Given the description of an element on the screen output the (x, y) to click on. 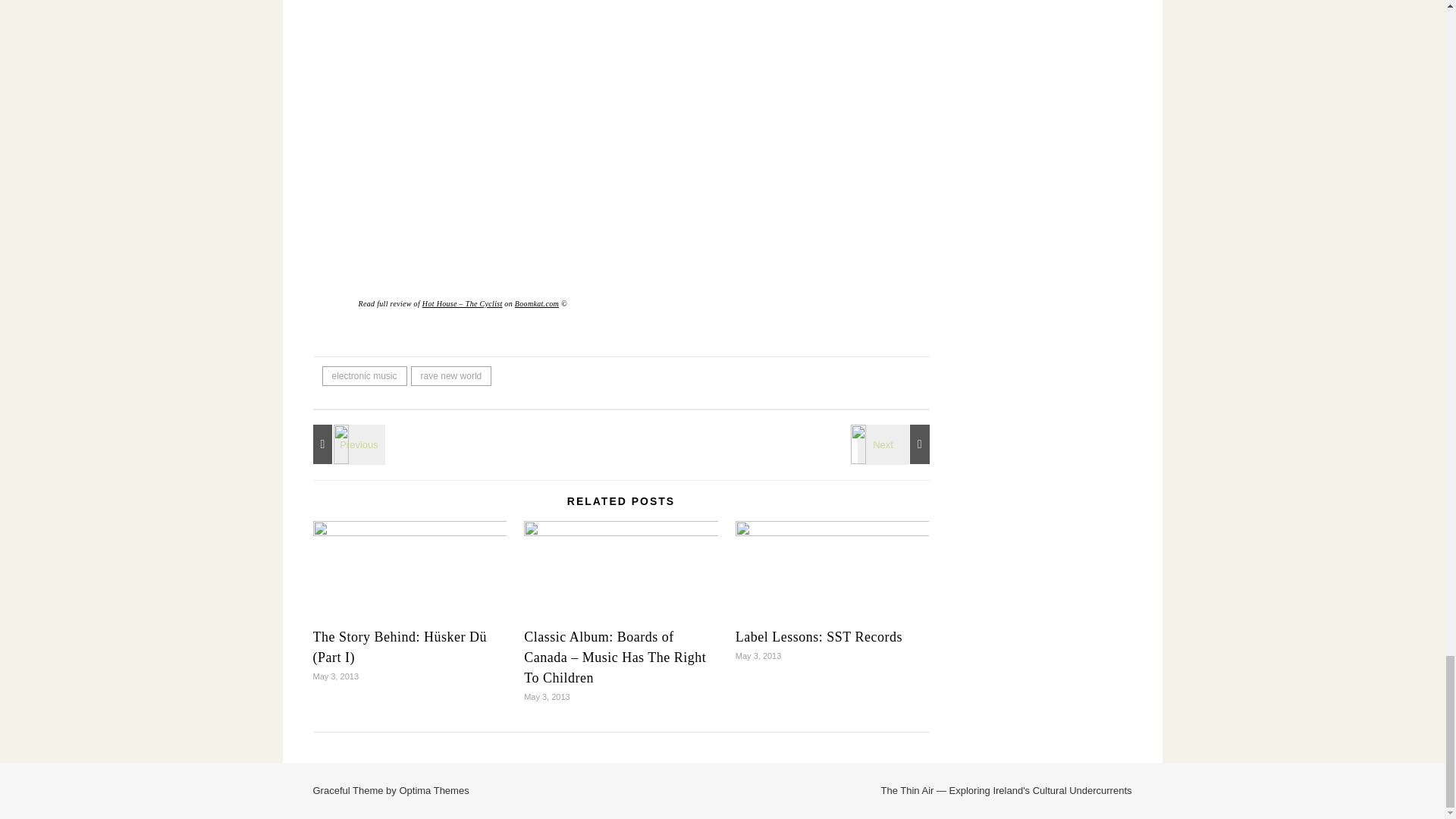
Exclusive: Stream Three Record Store Gay Tracks (346, 444)
Primer: Burn After Inking (895, 444)
